Given the description of an element on the screen output the (x, y) to click on. 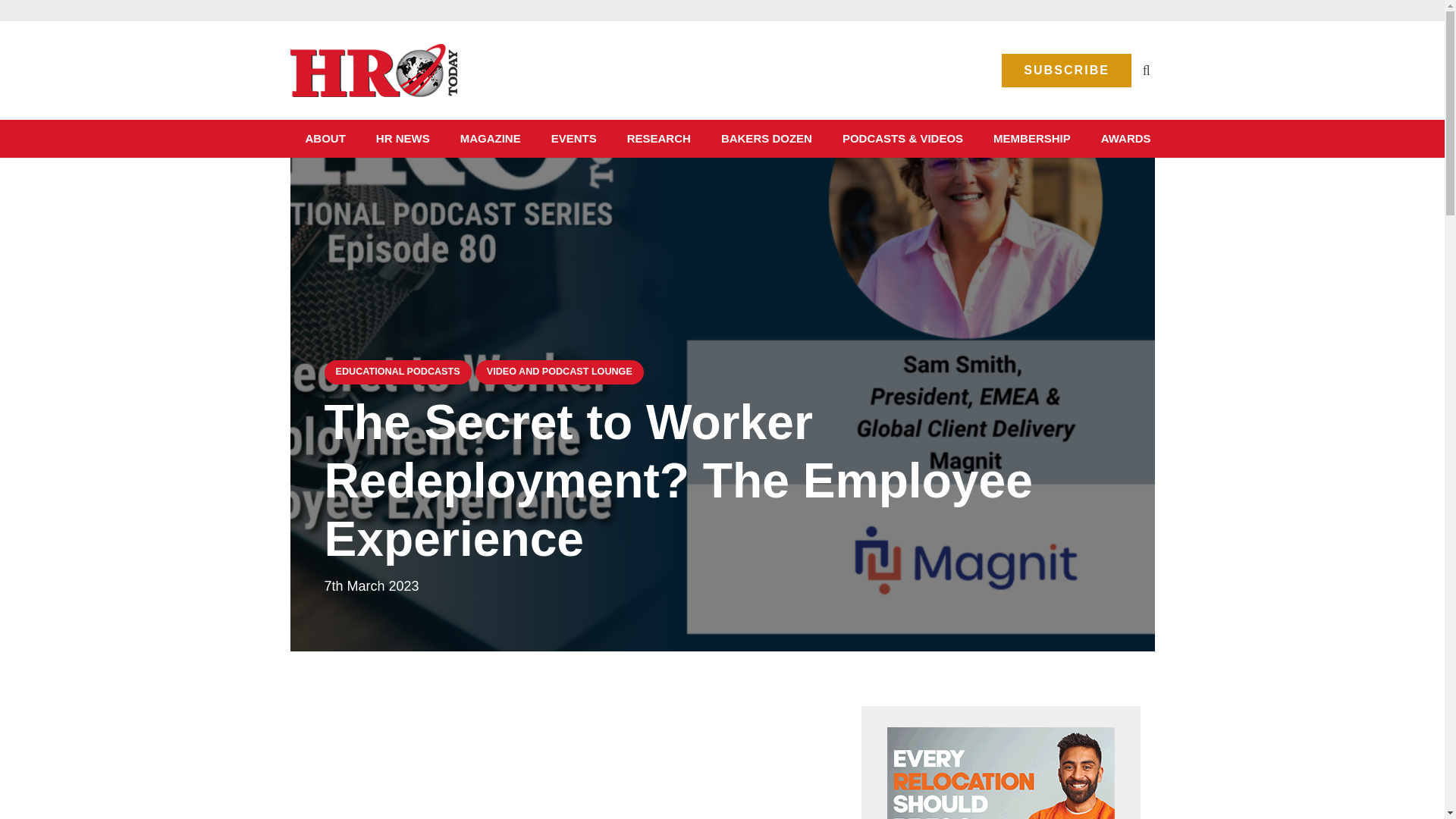
ABOUT (324, 138)
HR NEWS (403, 138)
EVENTS (573, 138)
YouTube video player (536, 762)
SUBSCRIBE (1066, 70)
RESEARCH (658, 138)
MAGAZINE (490, 138)
